Given the description of an element on the screen output the (x, y) to click on. 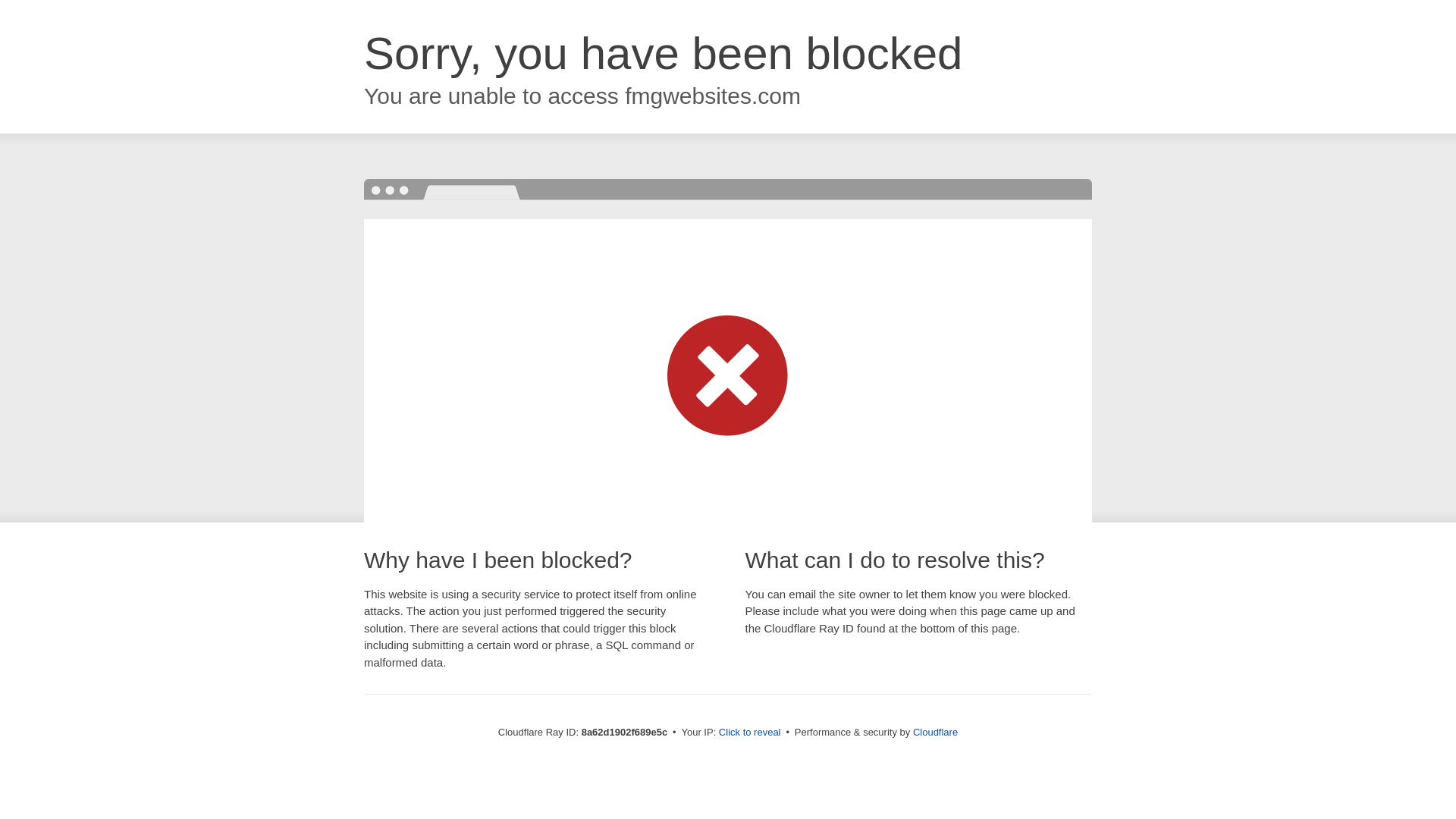
Click to reveal (749, 732)
Cloudflare (935, 731)
